Given the description of an element on the screen output the (x, y) to click on. 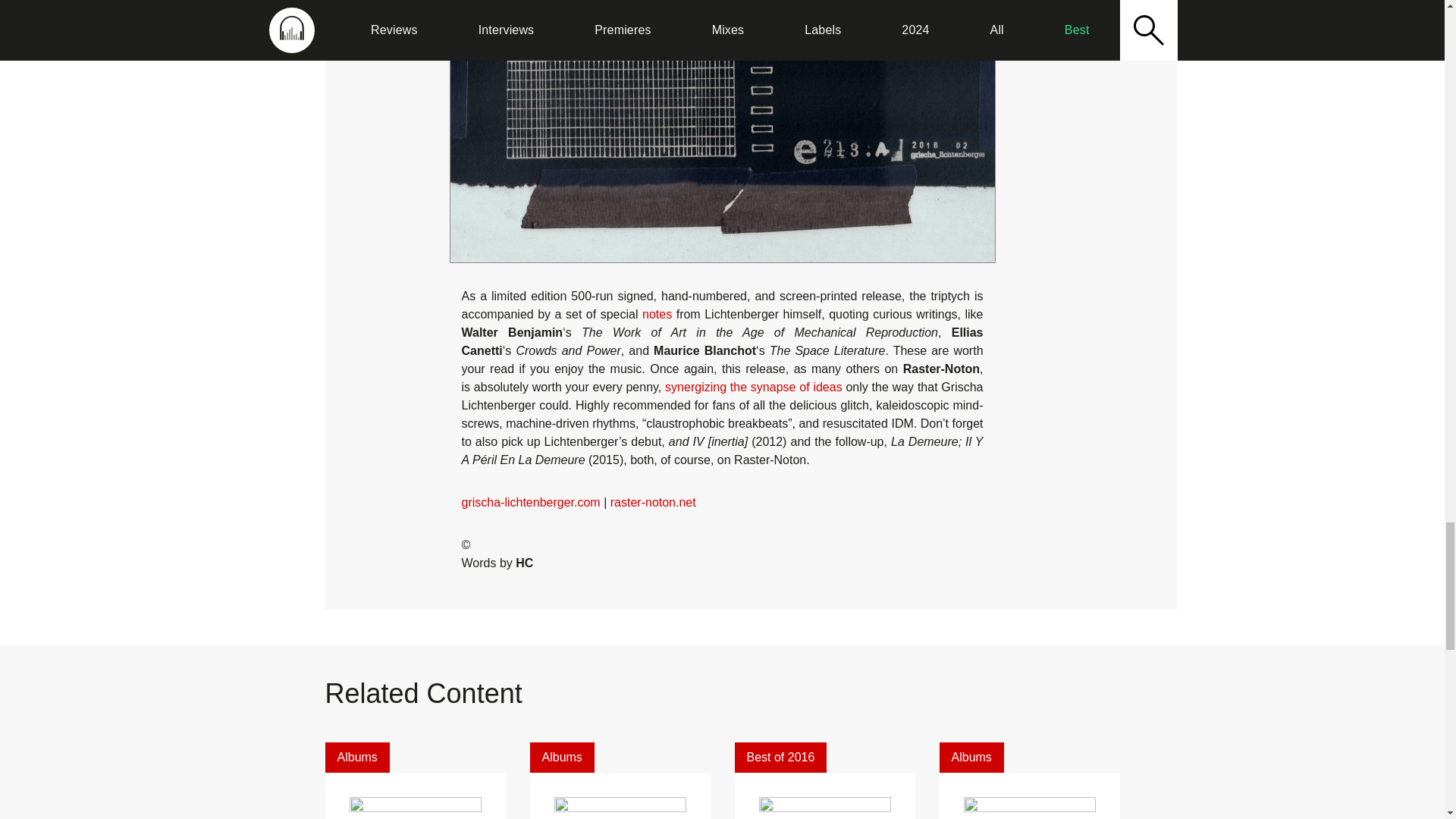
synergizing the synapse of ideas (754, 386)
Albums (356, 757)
Albums (561, 757)
Albums (971, 757)
raster-noton.net (652, 502)
notes (656, 314)
grischa-lichtenberger.com (530, 502)
Best of 2016 (780, 757)
